Given the description of an element on the screen output the (x, y) to click on. 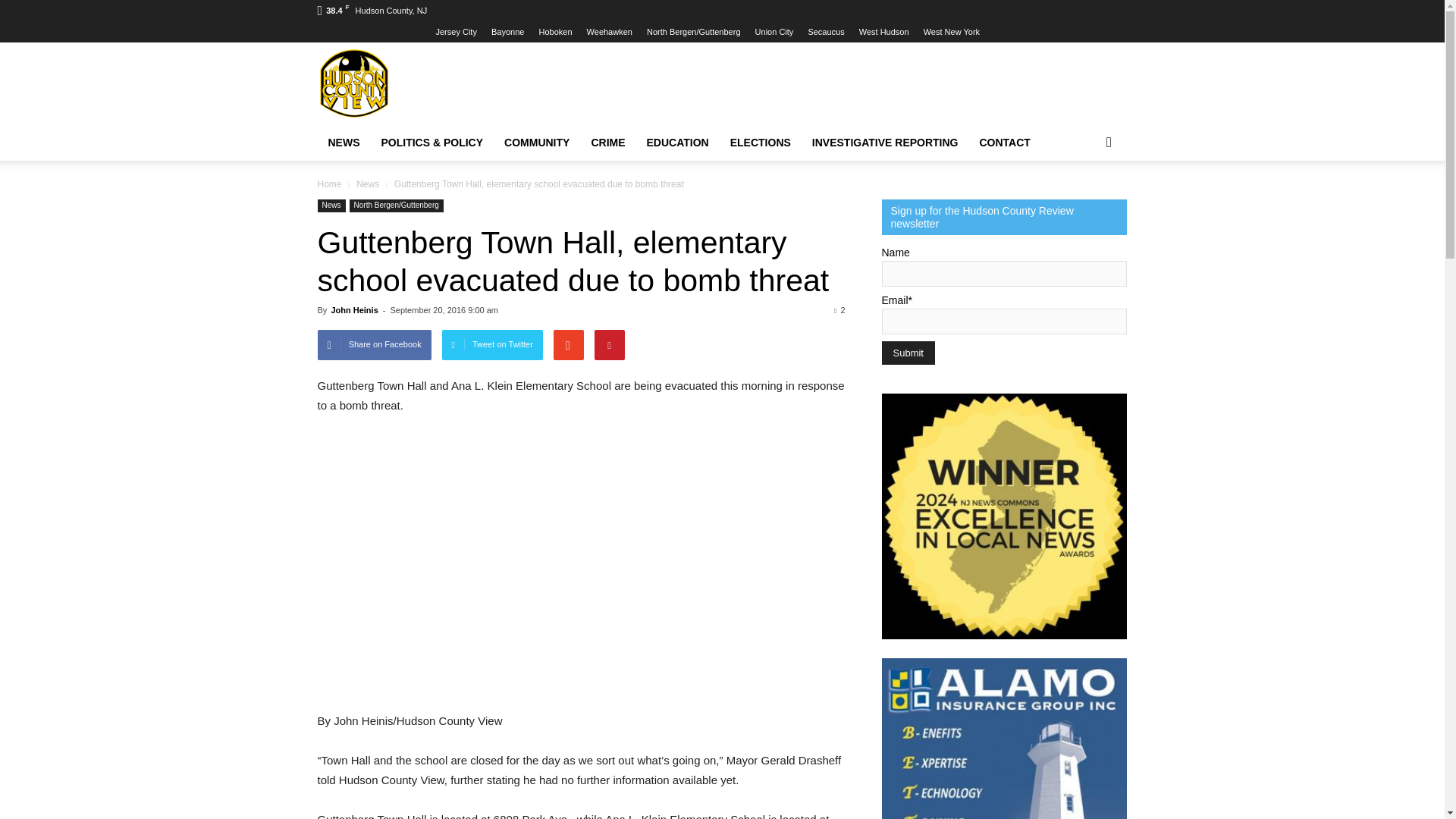
CONTACT (1005, 142)
West New York (951, 31)
Weehawken (608, 31)
ELECTIONS (760, 142)
Secaucus (826, 31)
NEWS (343, 142)
CRIME (606, 142)
Submit (907, 352)
Union City (774, 31)
West Hudson (883, 31)
